Given the description of an element on the screen output the (x, y) to click on. 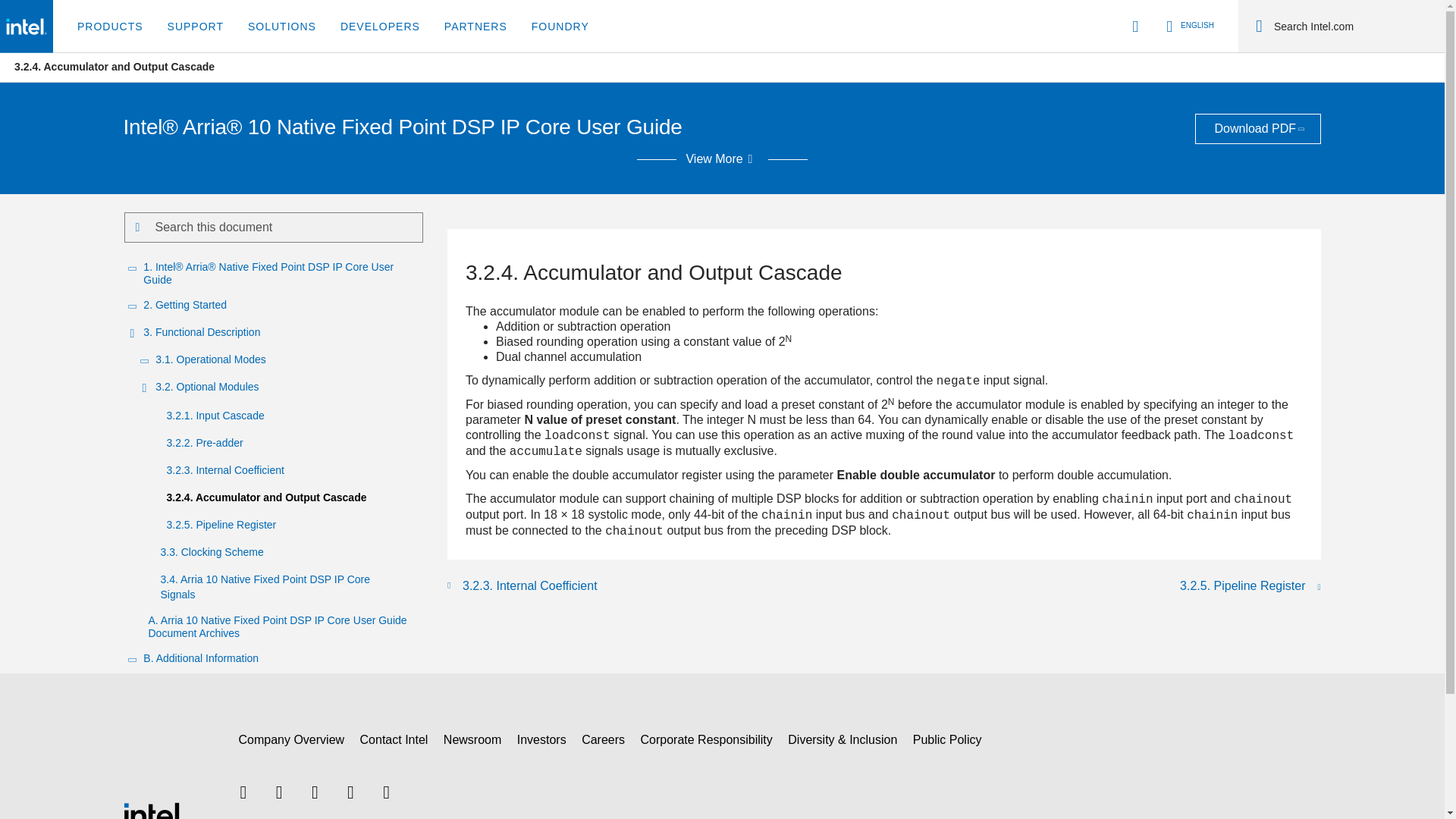
Language Selector (1187, 26)
Intel Footer Logo (152, 812)
PRODUCTS (110, 26)
